Given the description of an element on the screen output the (x, y) to click on. 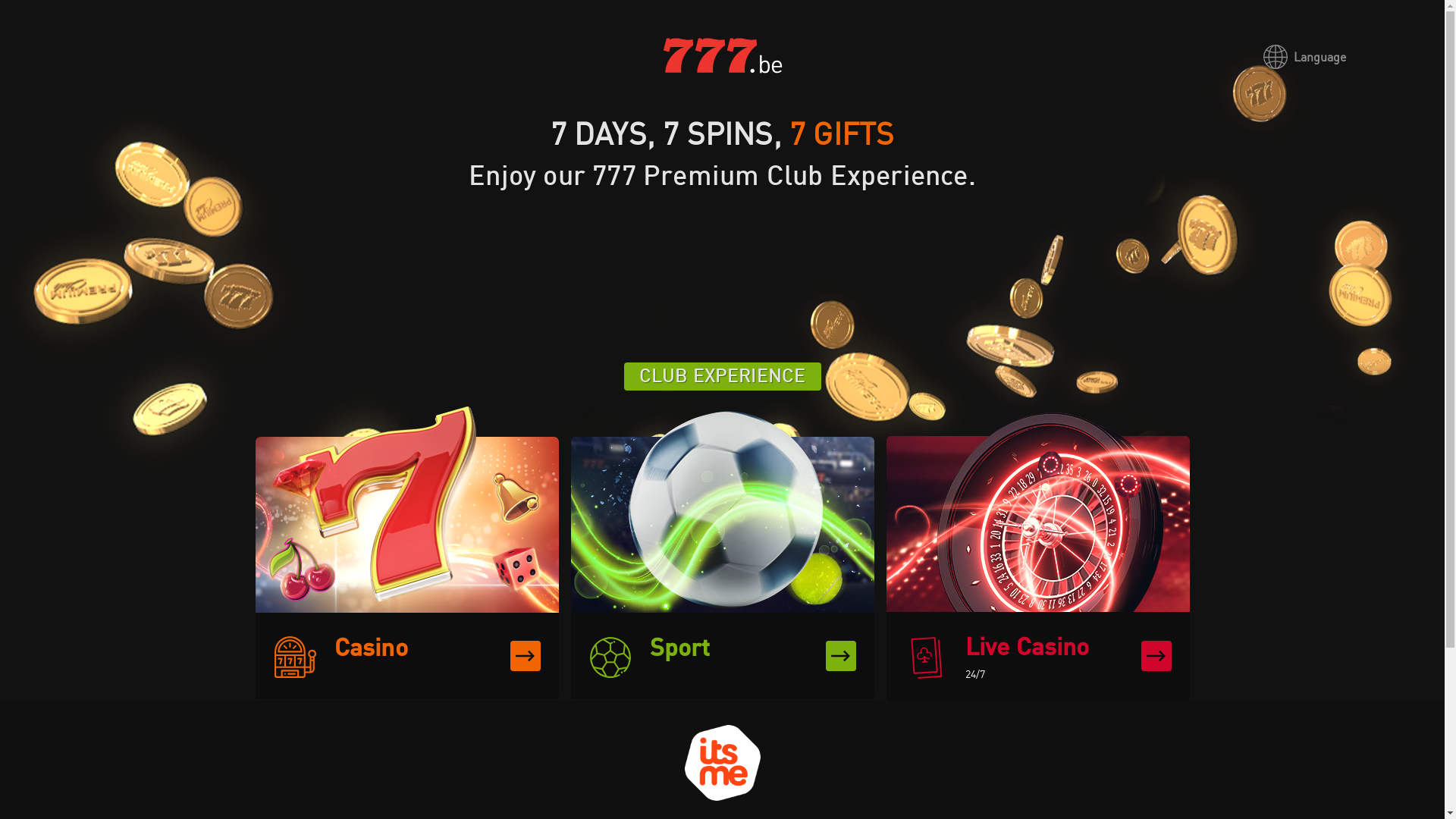
Live Casino
24/7 Element type: text (1037, 552)
CLUB EXPERIENCE Element type: text (721, 376)
Sport Element type: text (721, 552)
Language Element type: text (1304, 57)
Casino Element type: text (406, 552)
